Given the description of an element on the screen output the (x, y) to click on. 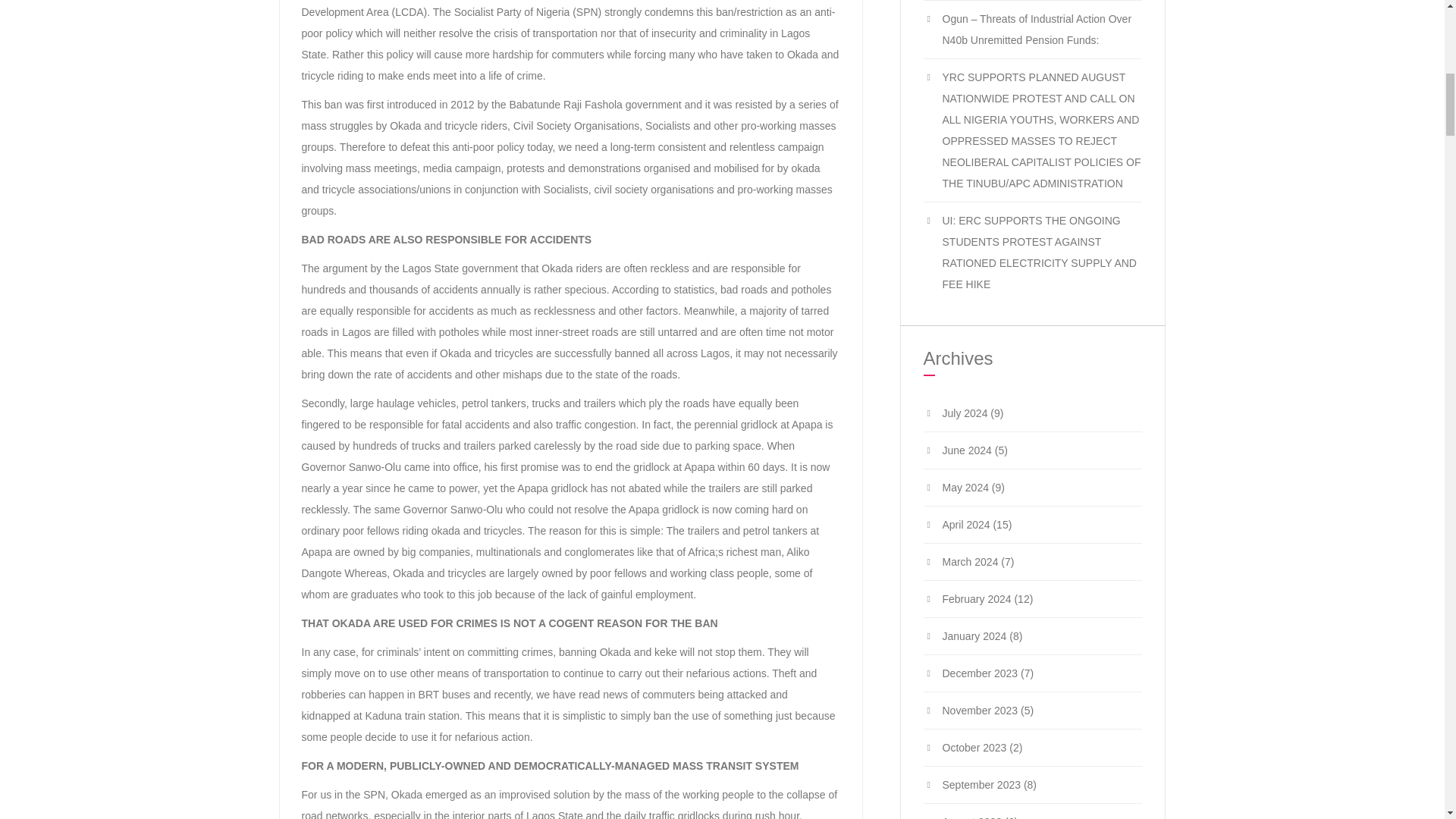
June 2024 (966, 450)
July 2024 (964, 413)
